Given the description of an element on the screen output the (x, y) to click on. 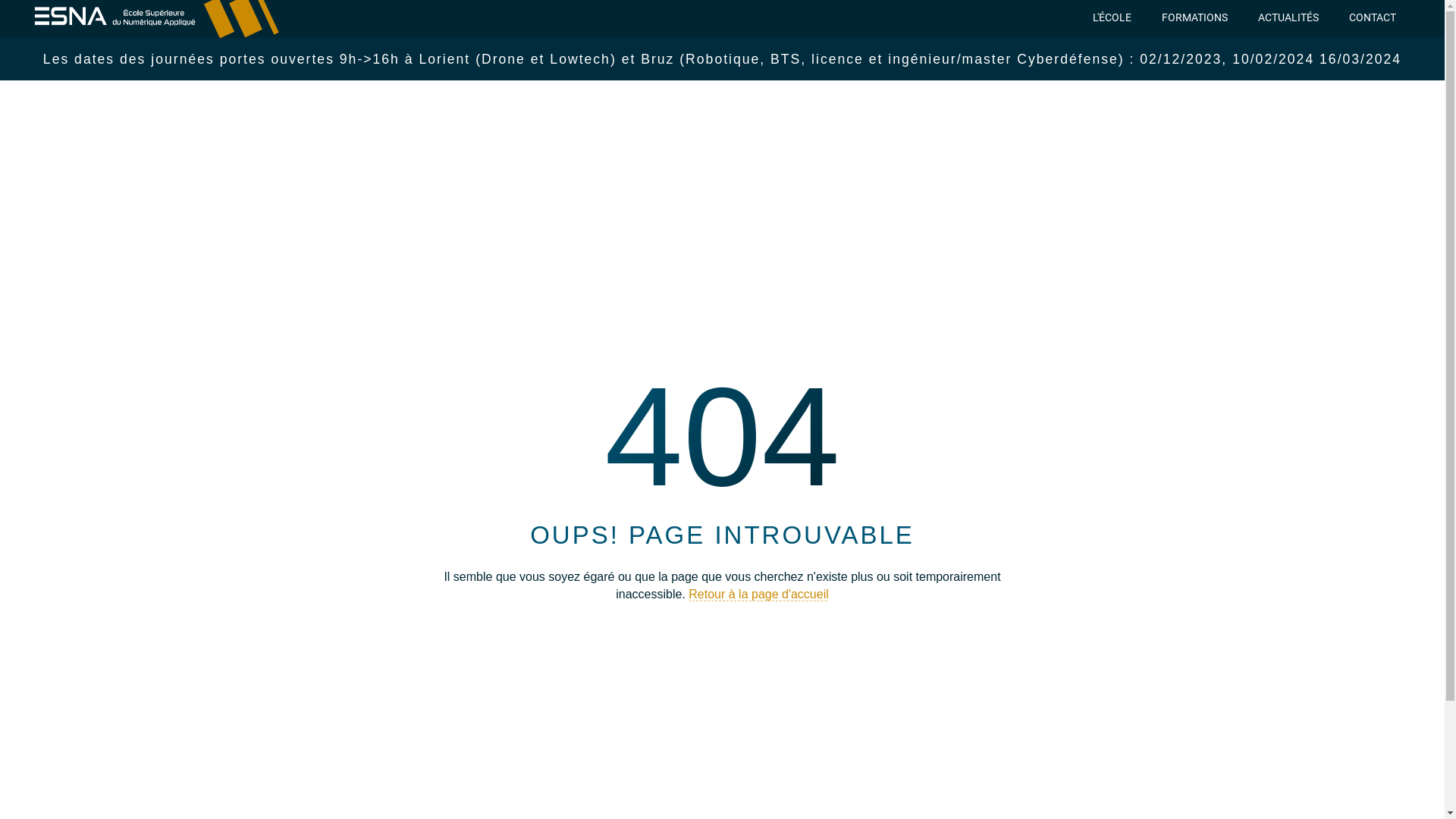
CONTACT Element type: text (1372, 16)
FORMATIONS Element type: text (1194, 16)
